Given the description of an element on the screen output the (x, y) to click on. 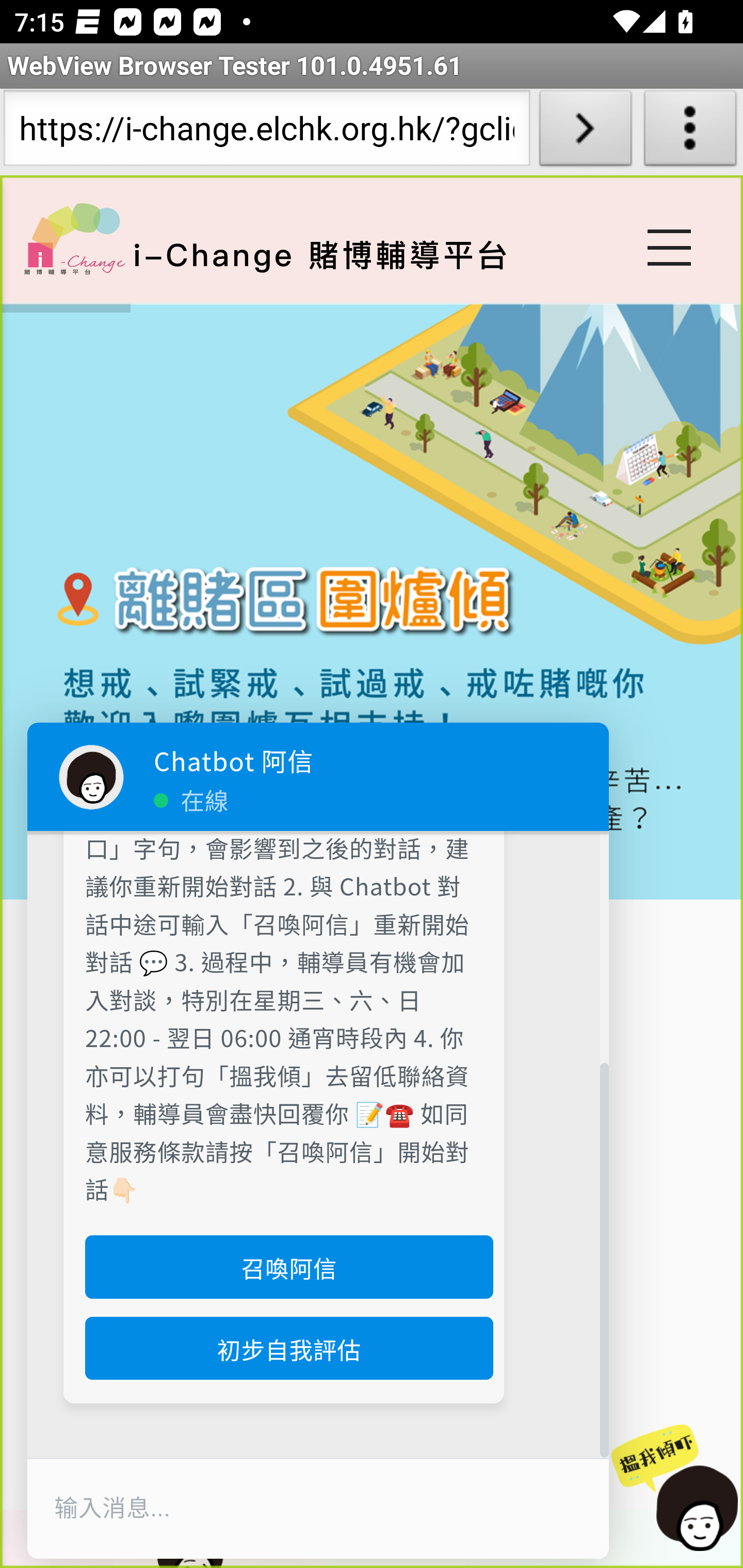
Load URL (585, 132)
About WebView (690, 132)
Home (74, 238)
Chat Now (674, 1488)
